Given the description of an element on the screen output the (x, y) to click on. 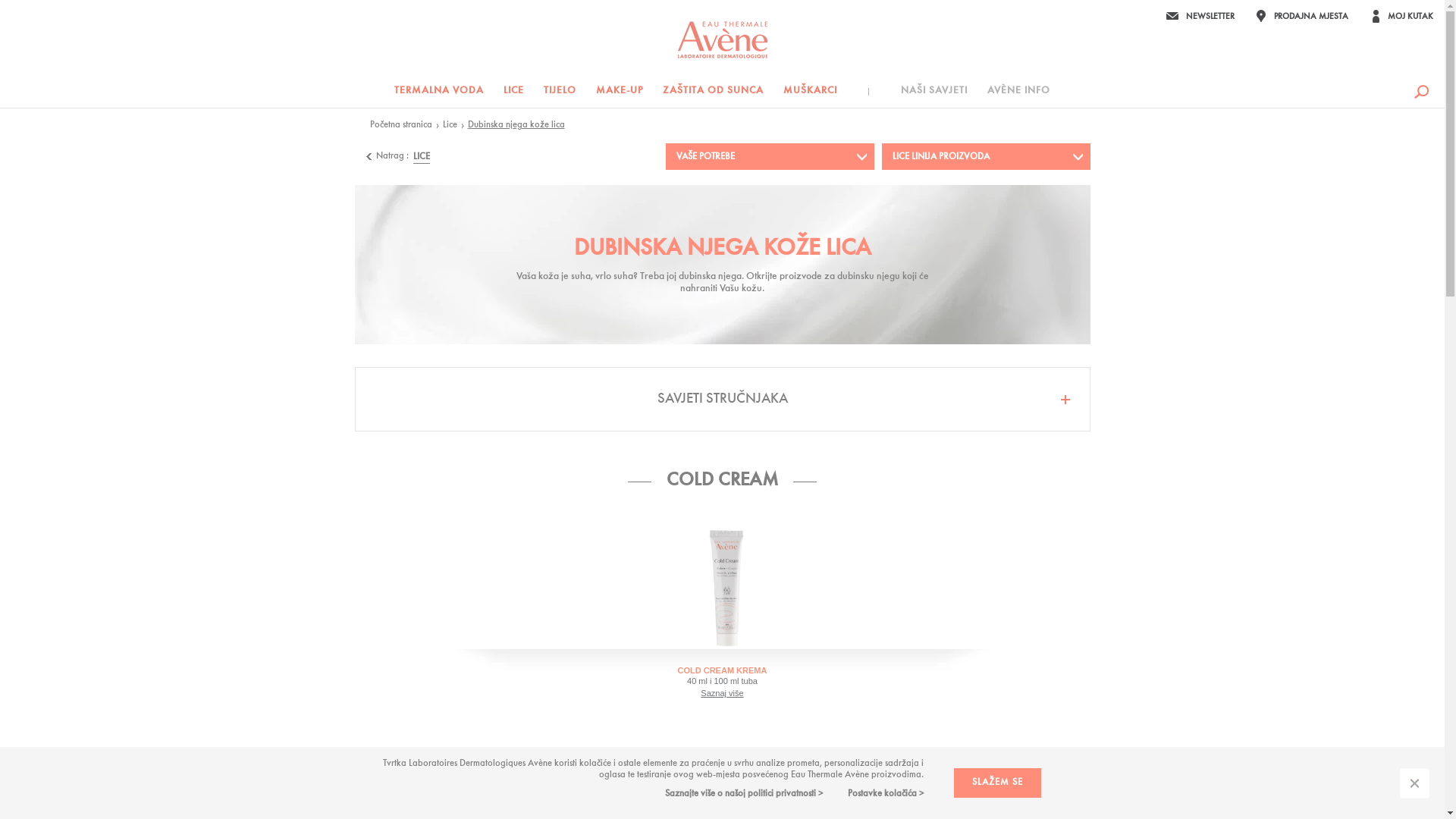
LICE Element type: text (420, 156)
TERMALNA VODA Element type: text (441, 91)
COLD CREAM Element type: text (722, 480)
TIJELO Element type: text (559, 91)
LICE Element type: text (513, 91)
LICE LINIJA PROIZVODA Element type: text (951, 156)
MAKE-UP Element type: text (619, 91)
MOJ KUTAK Element type: text (1401, 15)
COLD CREAM KREMA Element type: text (722, 669)
PRODAJNA MJESTA Element type: text (1302, 15)
Lice Element type: text (449, 124)
NEWSLETTER Element type: text (1199, 15)
